Given the description of an element on the screen output the (x, y) to click on. 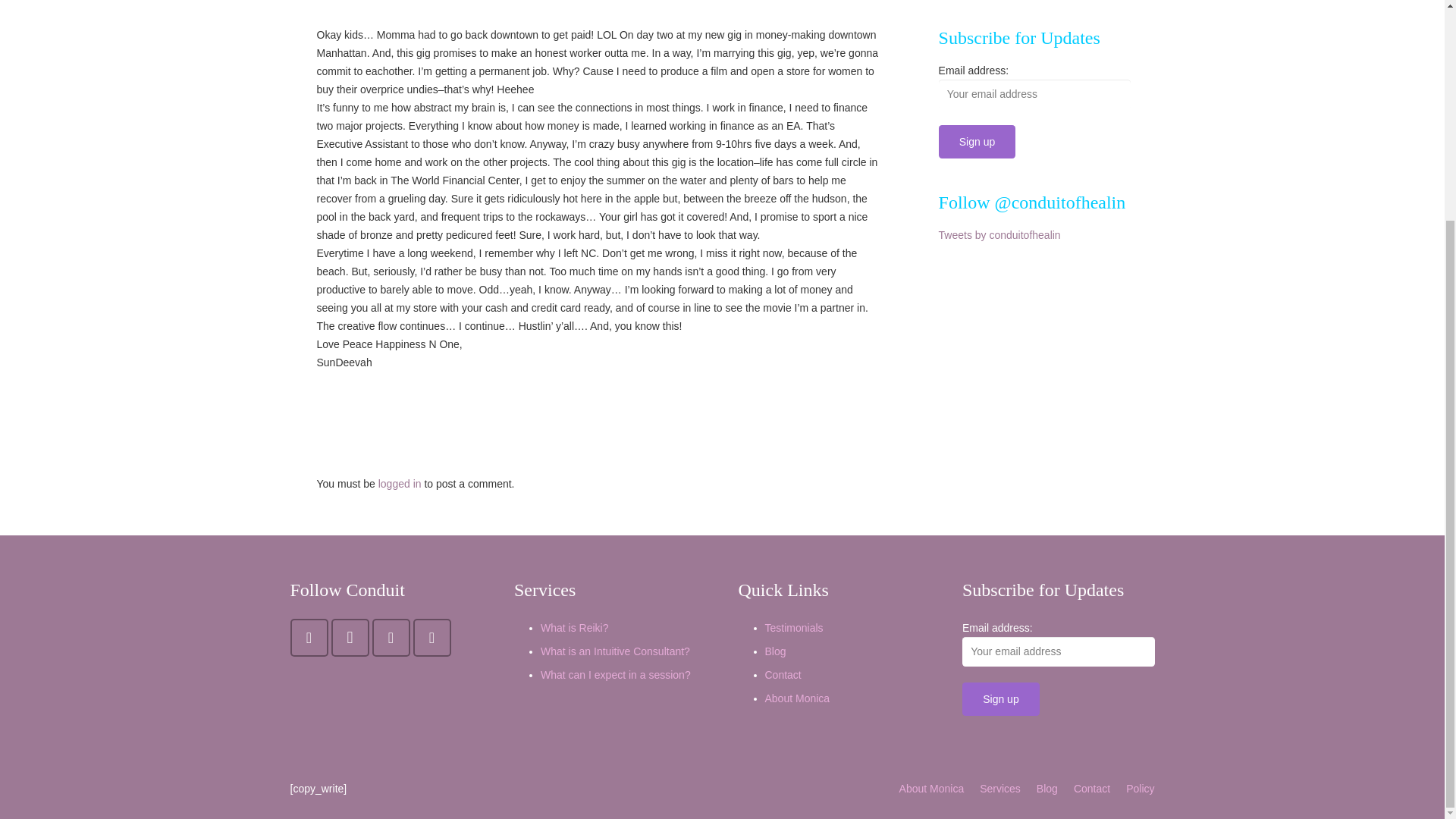
Twitter (308, 637)
Sign up (1000, 698)
What can I expect in a session? (615, 674)
Sign up (977, 141)
About Monica (931, 788)
What is Reiki? (574, 627)
Tweets by conduitofhealin (1000, 234)
Services (999, 788)
Policy (1139, 788)
Sign up (1000, 698)
What is an Intuitive Consultant? (615, 651)
Sign up (977, 141)
About Monica (796, 698)
Testimonials (793, 627)
logged in (400, 483)
